Given the description of an element on the screen output the (x, y) to click on. 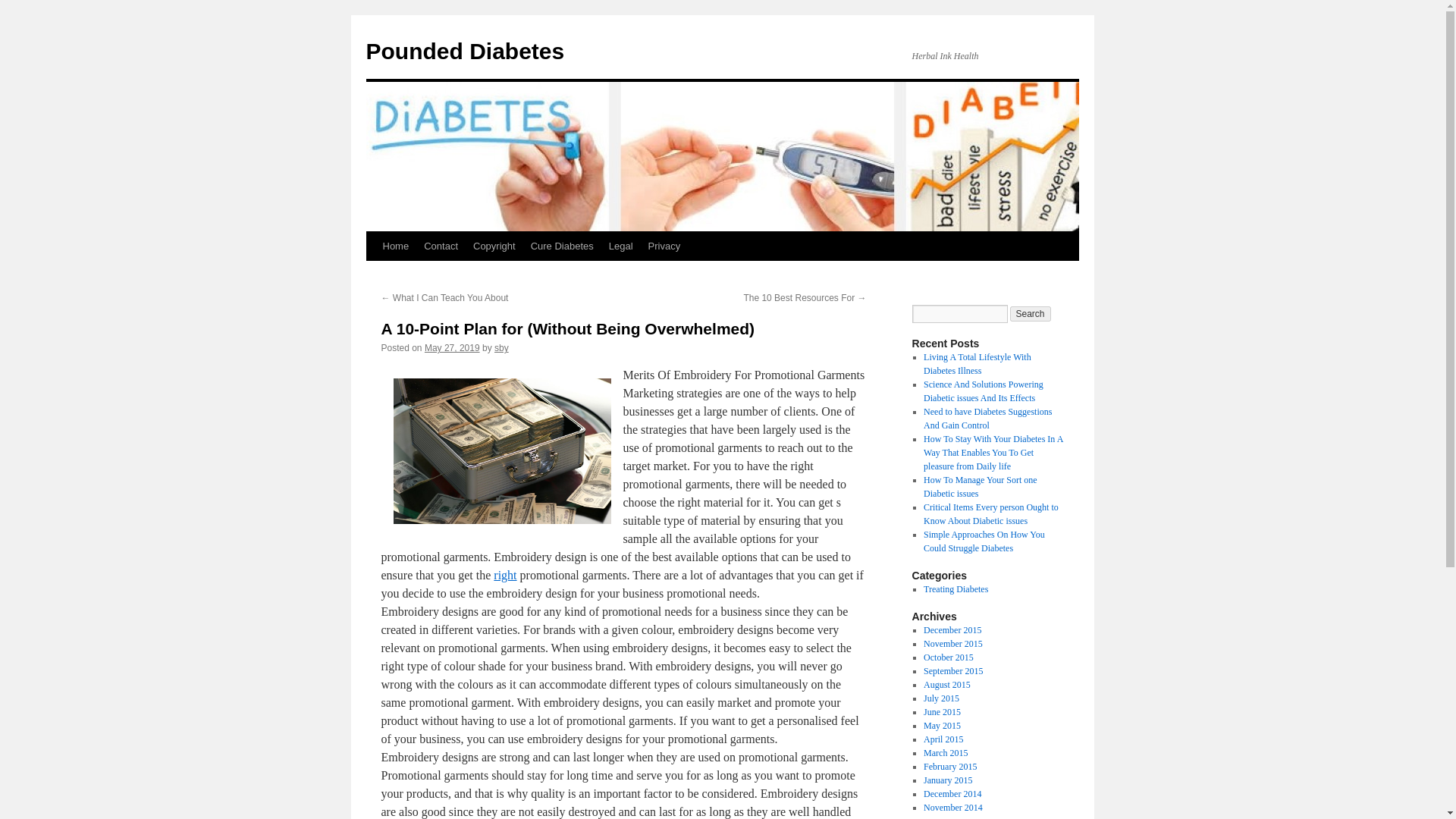
June 2015 (941, 711)
Treating Diabetes (955, 588)
April 2015 (942, 738)
Contact (440, 246)
Need to have Diabetes Suggestions And Gain Control (987, 418)
4:28 am (452, 347)
August 2015 (947, 684)
Privacy (664, 246)
